Given the description of an element on the screen output the (x, y) to click on. 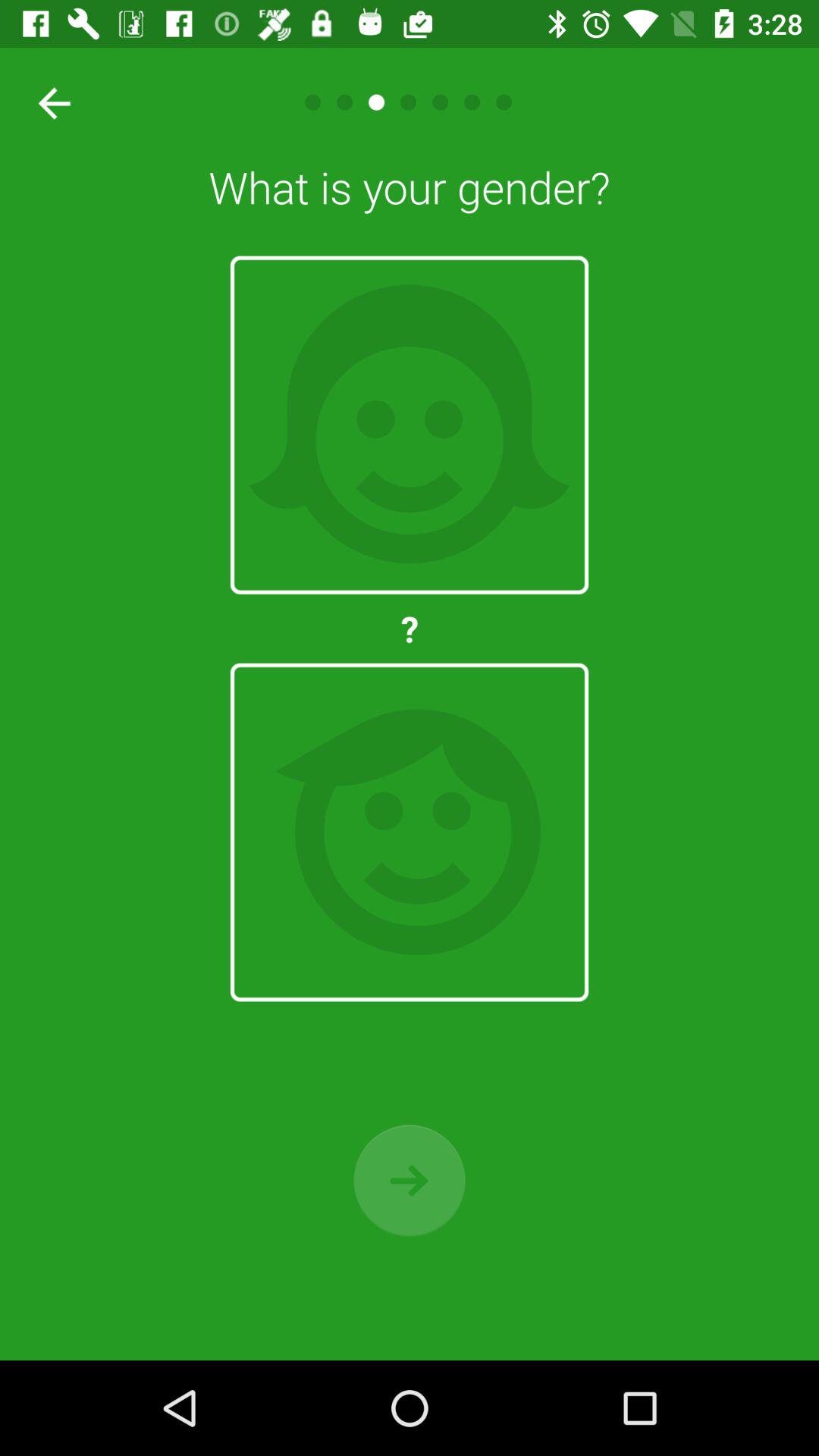
go forward (409, 1180)
